Given the description of an element on the screen output the (x, y) to click on. 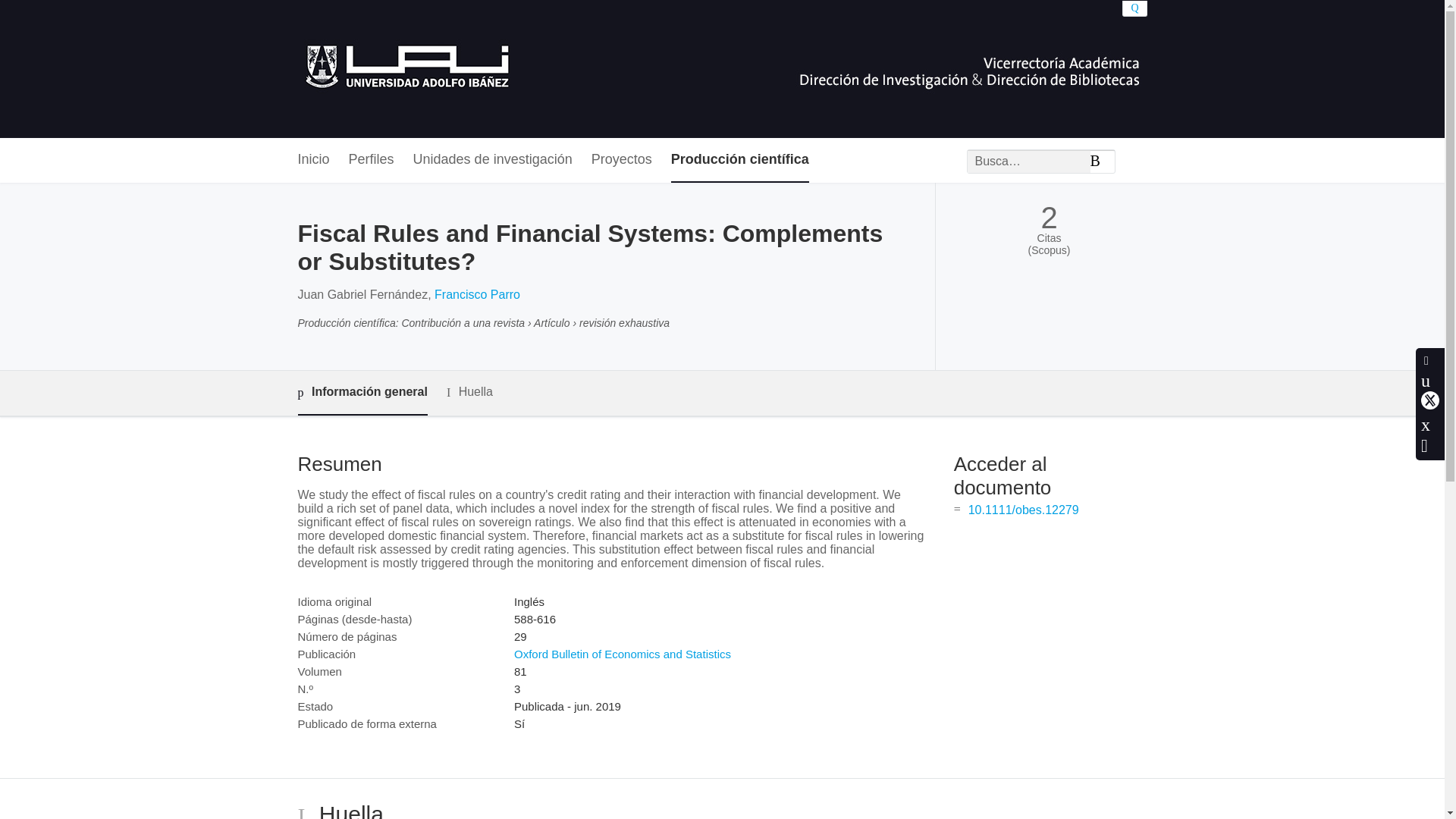
Huella (469, 392)
Perfiles (371, 160)
Francisco Parro (476, 294)
Proyectos (621, 160)
Oxford Bulletin of Economics and Statistics (621, 653)
